Given the description of an element on the screen output the (x, y) to click on. 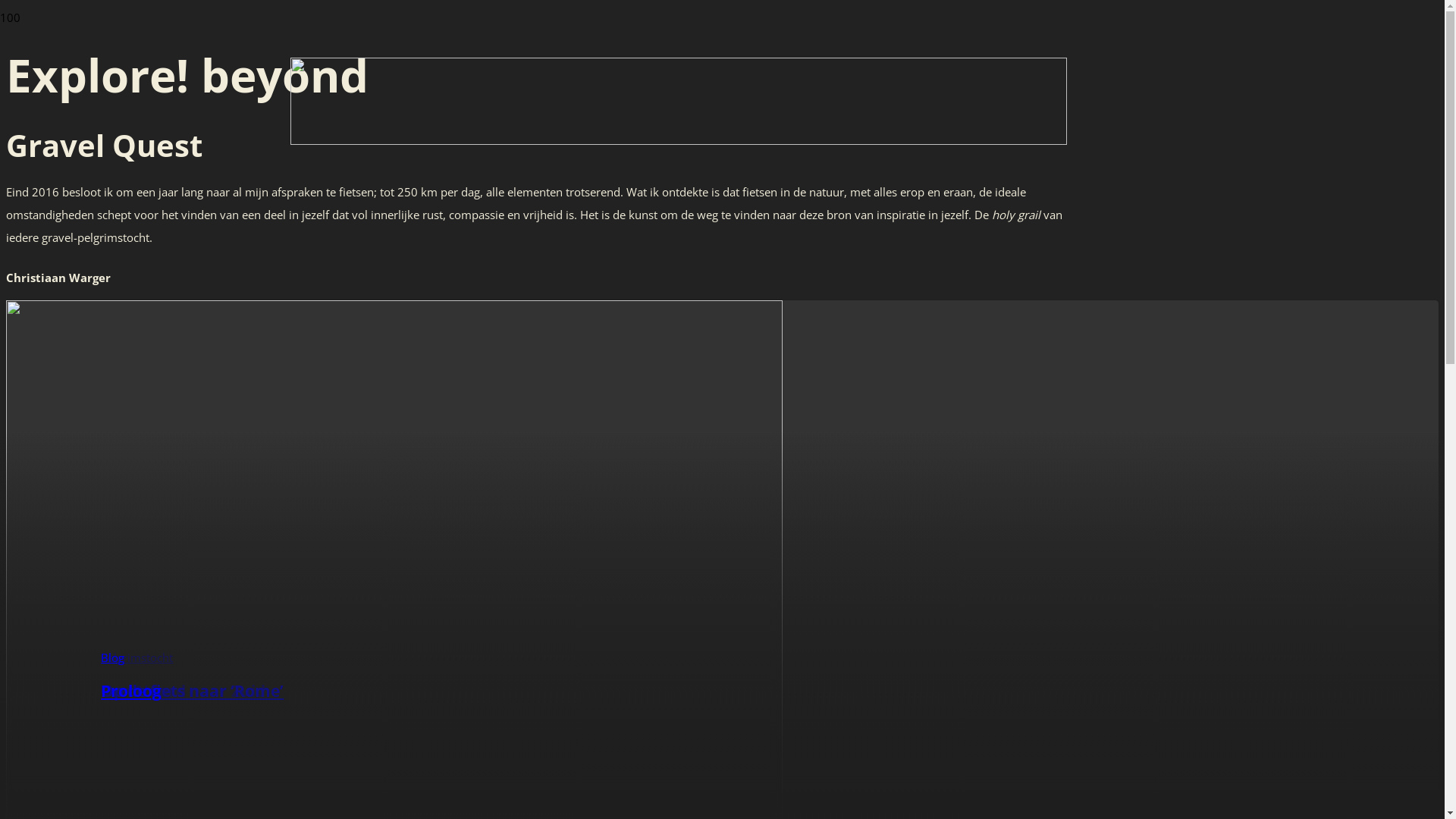
Pelgrimstocht Element type: text (136, 657)
Blog Element type: text (112, 657)
Van Noord naar Zuid Element type: text (182, 690)
Proloog Element type: text (130, 690)
